Given the description of an element on the screen output the (x, y) to click on. 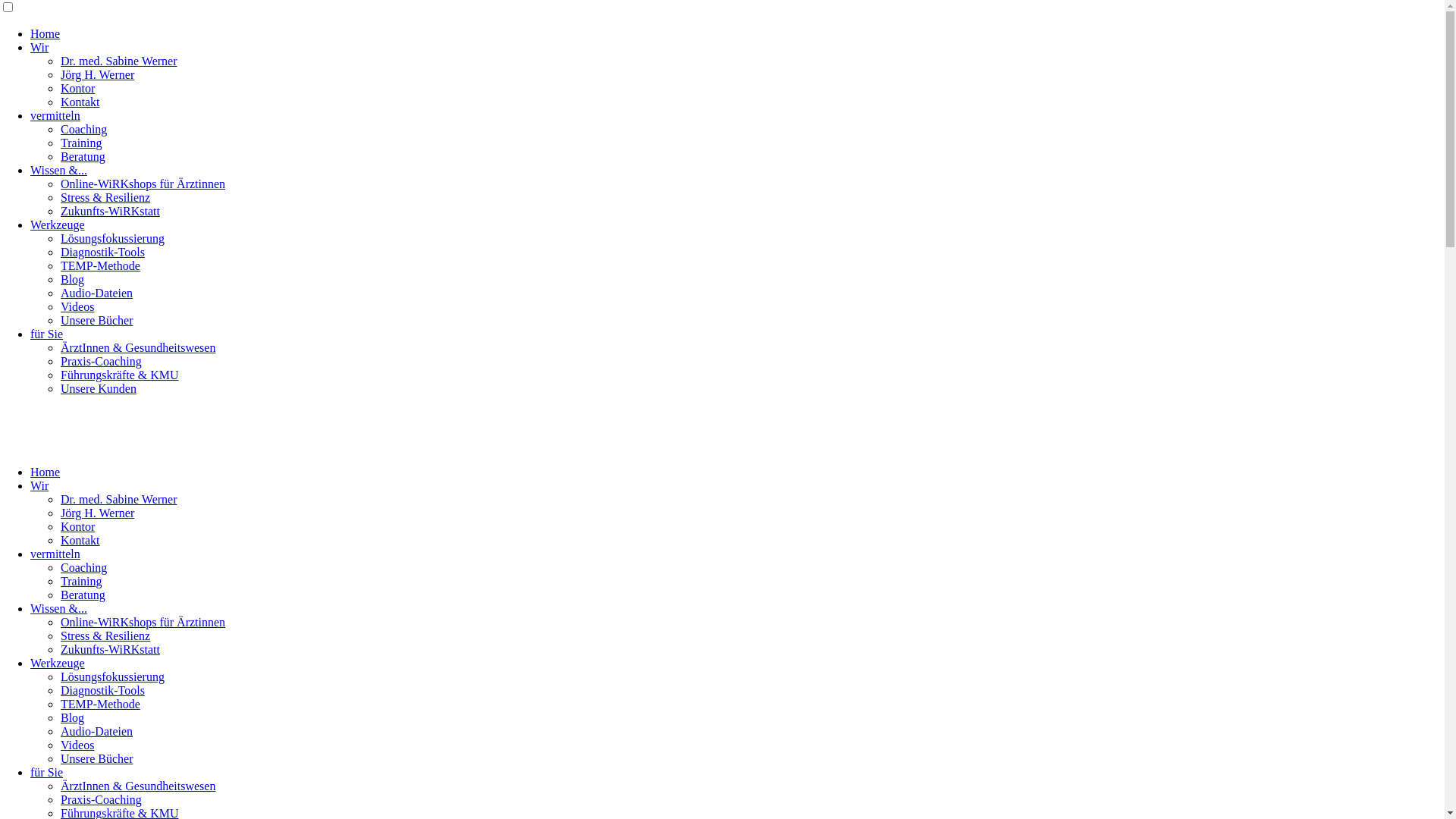
Diagnostik-Tools Element type: text (102, 690)
Coaching Element type: text (83, 567)
Werkzeuge Element type: text (57, 662)
Wir Element type: text (39, 46)
Training Element type: text (81, 580)
TEMP-Methode Element type: text (100, 703)
Kontor Element type: text (77, 526)
Kontakt Element type: text (80, 539)
Audio-Dateien Element type: text (96, 730)
Unsere Kunden Element type: text (98, 388)
Beratung Element type: text (82, 594)
Dr. med. Sabine Werner Element type: text (118, 60)
Kontor Element type: text (77, 87)
Training Element type: text (81, 142)
Praxis-Coaching Element type: text (100, 360)
Diagnostik-Tools Element type: text (102, 251)
Dr. med. Sabine Werner Element type: text (118, 498)
Coaching Element type: text (83, 128)
Audio-Dateien Element type: text (96, 292)
Home Element type: text (44, 471)
Kontakt Element type: text (80, 101)
Wir Element type: text (39, 485)
Blog Element type: text (72, 279)
Wissen &... Element type: text (58, 608)
TEMP-Methode Element type: text (100, 265)
Home Element type: text (44, 33)
Stress & Resilienz Element type: text (105, 635)
Wissen &... Element type: text (58, 169)
Stress & Resilienz Element type: text (105, 197)
Werkzeuge Element type: text (57, 224)
vermitteln Element type: text (55, 115)
Blog Element type: text (72, 717)
Videos Element type: text (77, 744)
Beratung Element type: text (82, 156)
Praxis-Coaching Element type: text (100, 799)
vermitteln Element type: text (55, 553)
Zukunfts-WiRKstatt Element type: text (110, 649)
Videos Element type: text (77, 306)
Zukunfts-WiRKstatt Element type: text (110, 210)
